Given the description of an element on the screen output the (x, y) to click on. 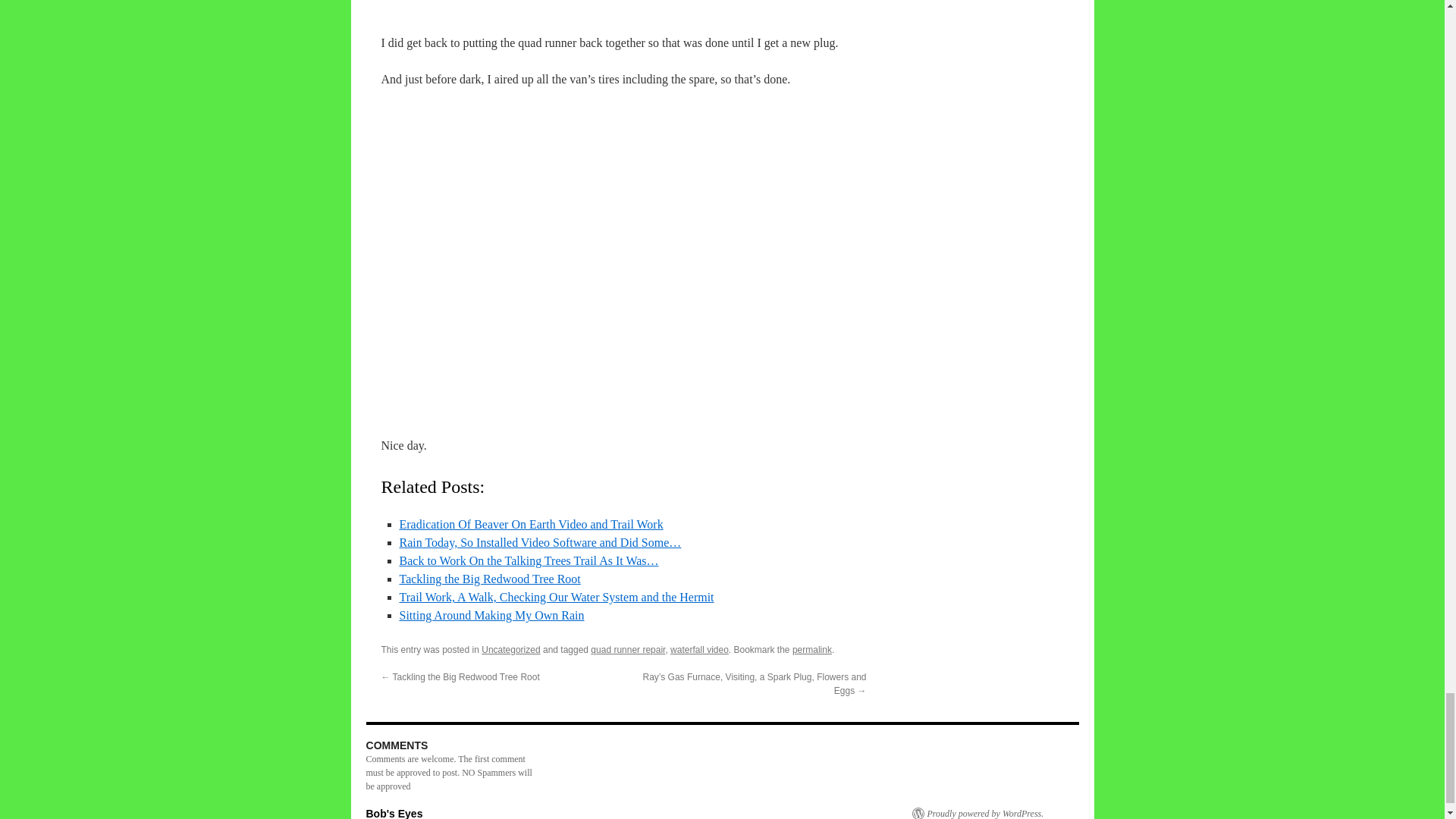
waterfall video (699, 649)
Eradication Of Beaver On Earth Video and Trail Work (530, 523)
Tackling the Big Redwood Tree Root (488, 578)
Trail Work, A Walk, Checking Our Water System and the Hermit (555, 596)
permalink (811, 649)
Uncategorized (510, 649)
quad runner repair (628, 649)
Sitting Around Making My Own Rain (490, 615)
